Given the description of an element on the screen output the (x, y) to click on. 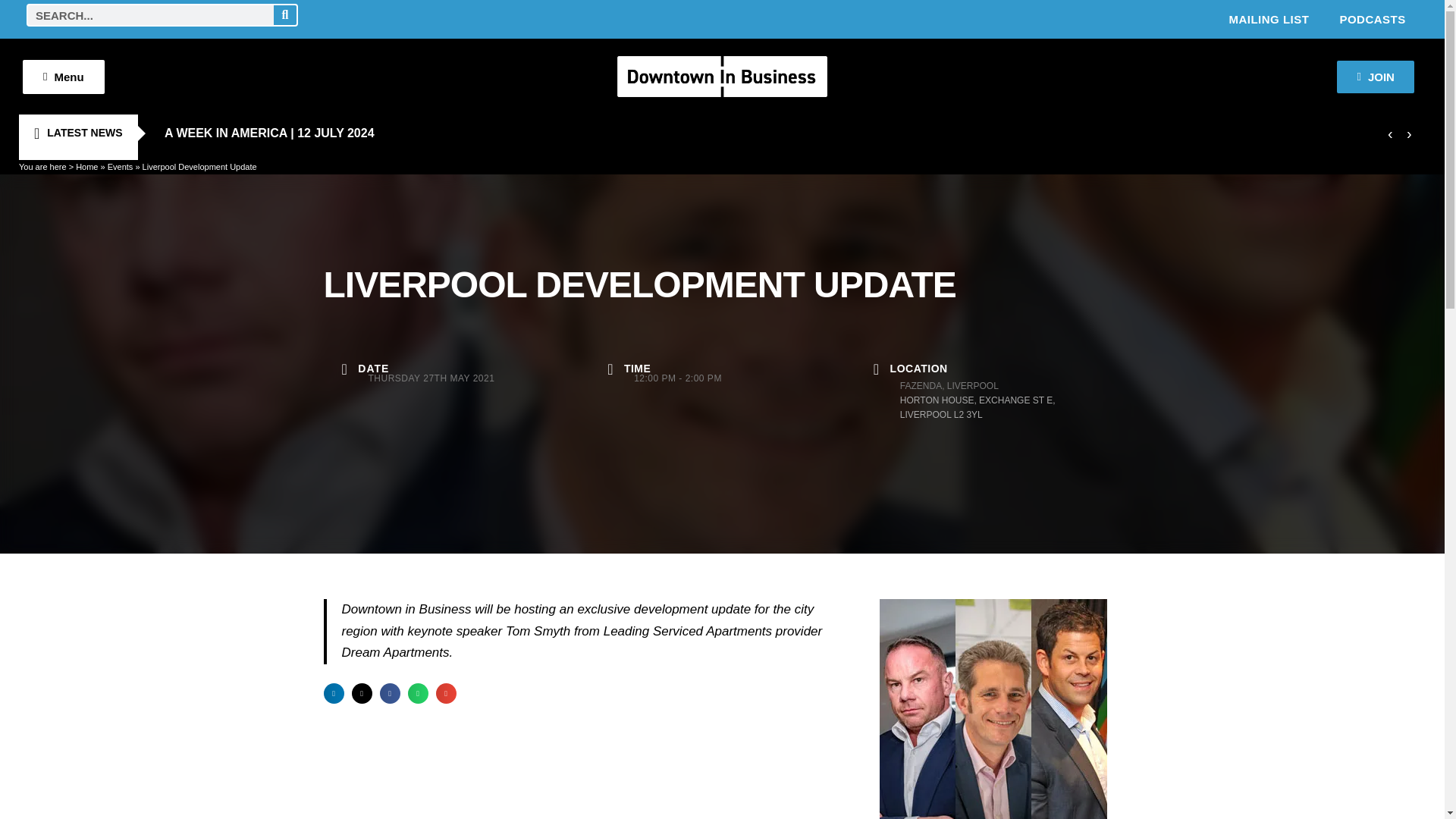
LATEST NEWS (77, 133)
Menu (63, 75)
Events (120, 166)
Home (86, 166)
MAILING LIST (1267, 18)
PODCASTS (1372, 18)
JOIN (1374, 76)
Skip to content (11, 31)
